Given the description of an element on the screen output the (x, y) to click on. 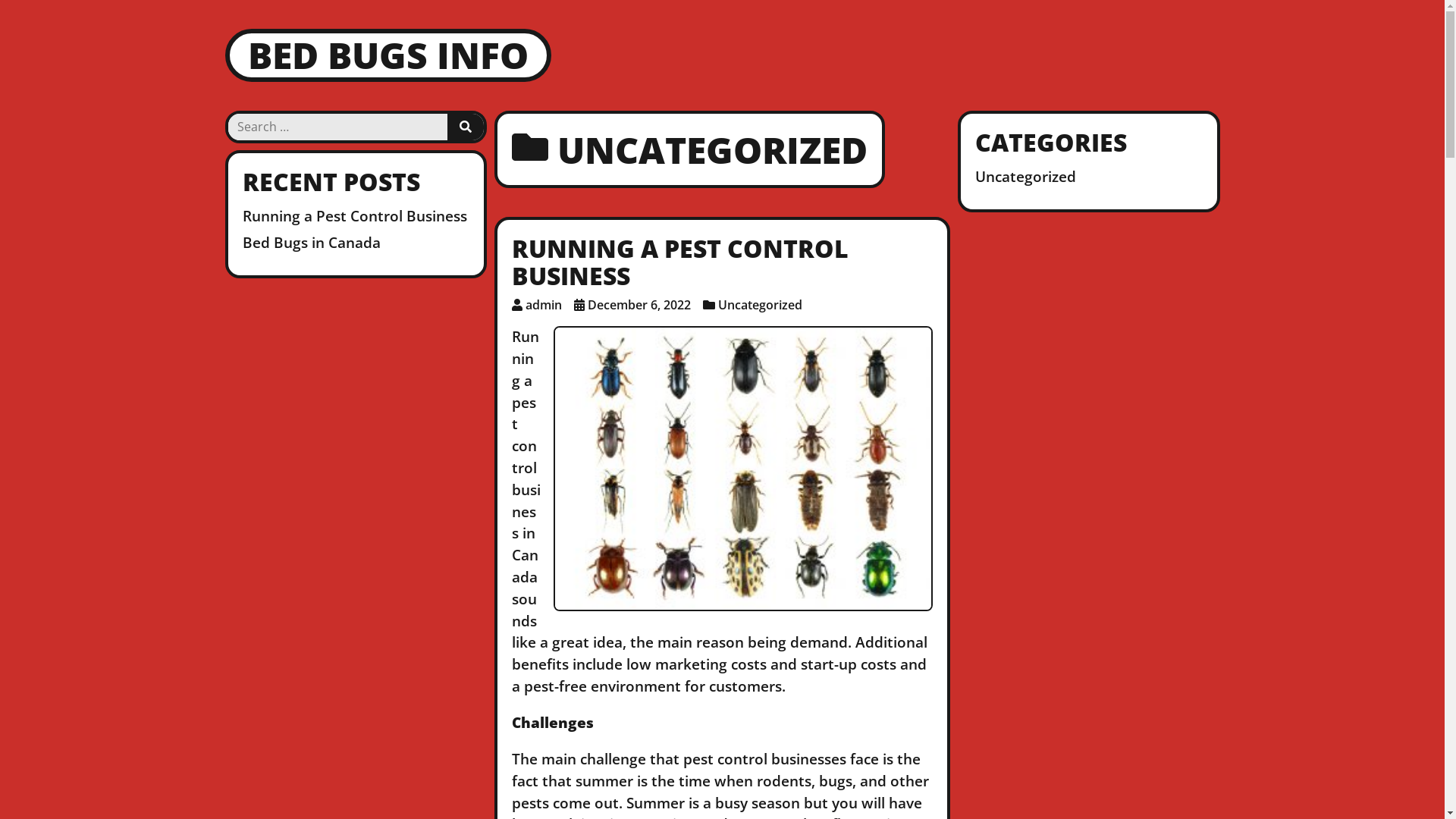
Uncategorized Element type: text (1025, 176)
admin Element type: text (543, 304)
SEARCH Element type: text (465, 126)
December 6, 2022 Element type: text (638, 304)
Running a Pest Control Business Element type: text (354, 215)
Uncategorized Element type: text (760, 304)
Search for: Element type: hover (337, 126)
Bed Bugs in Canada Element type: text (311, 242)
BED BUGS INFO Element type: text (387, 54)
RUNNING A PEST CONTROL BUSINESS Element type: text (679, 262)
